Given the description of an element on the screen output the (x, y) to click on. 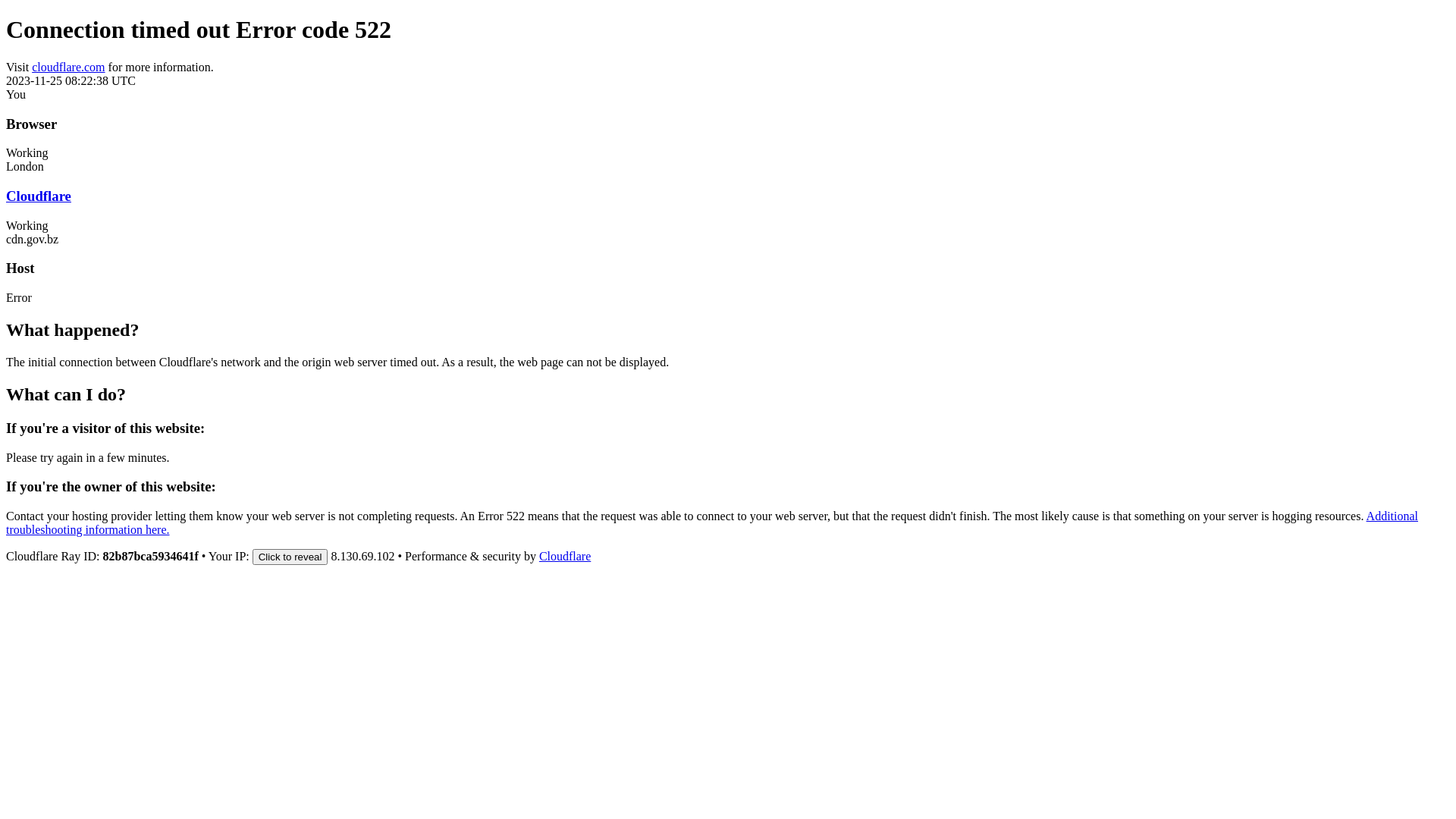
Additional troubleshooting information here. Element type: text (712, 522)
Cloudflare Element type: text (38, 195)
cloudflare.com Element type: text (67, 66)
Cloudflare Element type: text (564, 555)
Click to reveal Element type: text (290, 556)
